Given the description of an element on the screen output the (x, y) to click on. 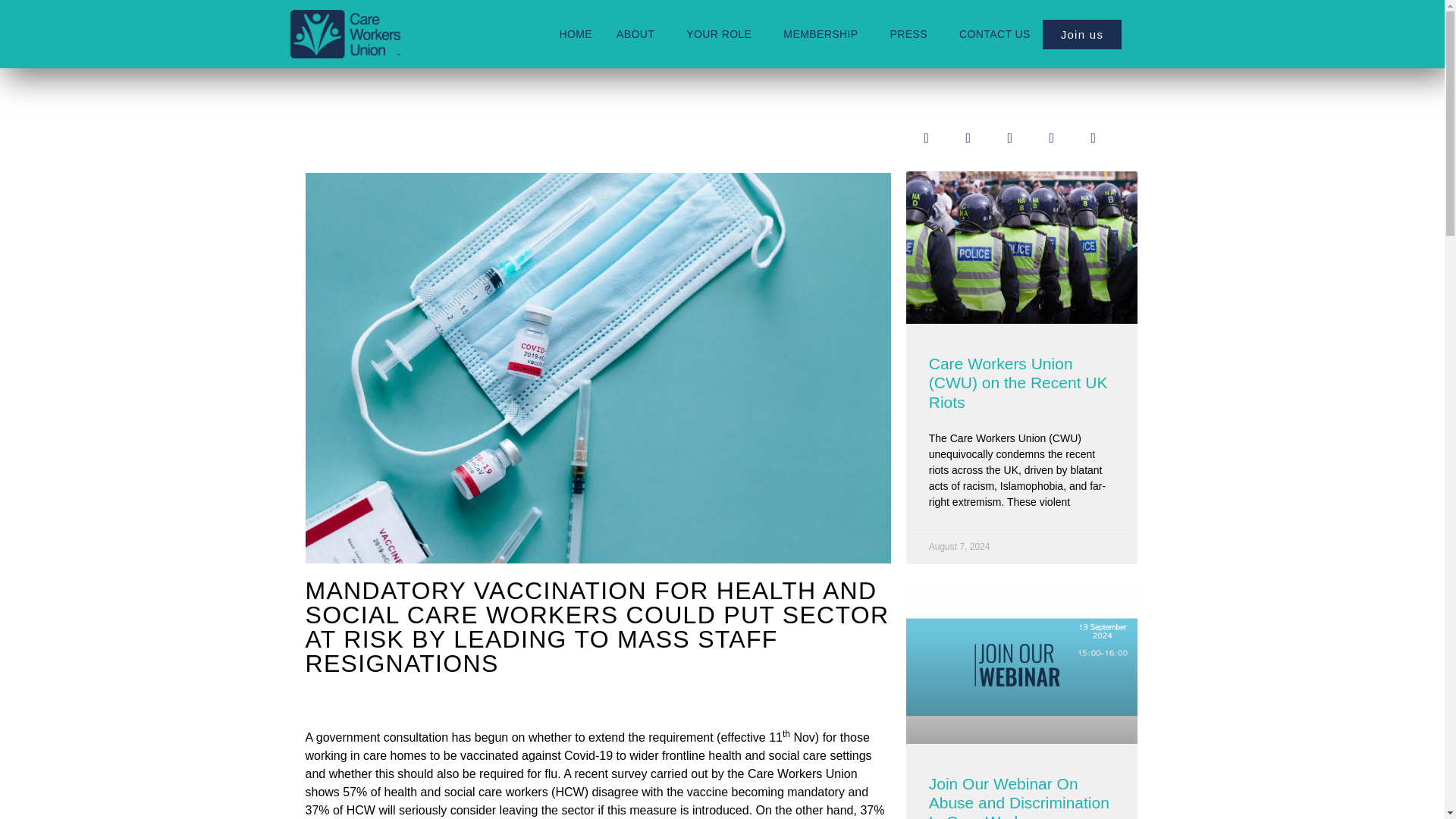
ABOUT (639, 33)
HOME (575, 33)
MEMBERSHIP (824, 33)
YOUR ROLE (722, 33)
Join us (1082, 34)
CONTACT US (994, 33)
PRESS (911, 33)
